Given the description of an element on the screen output the (x, y) to click on. 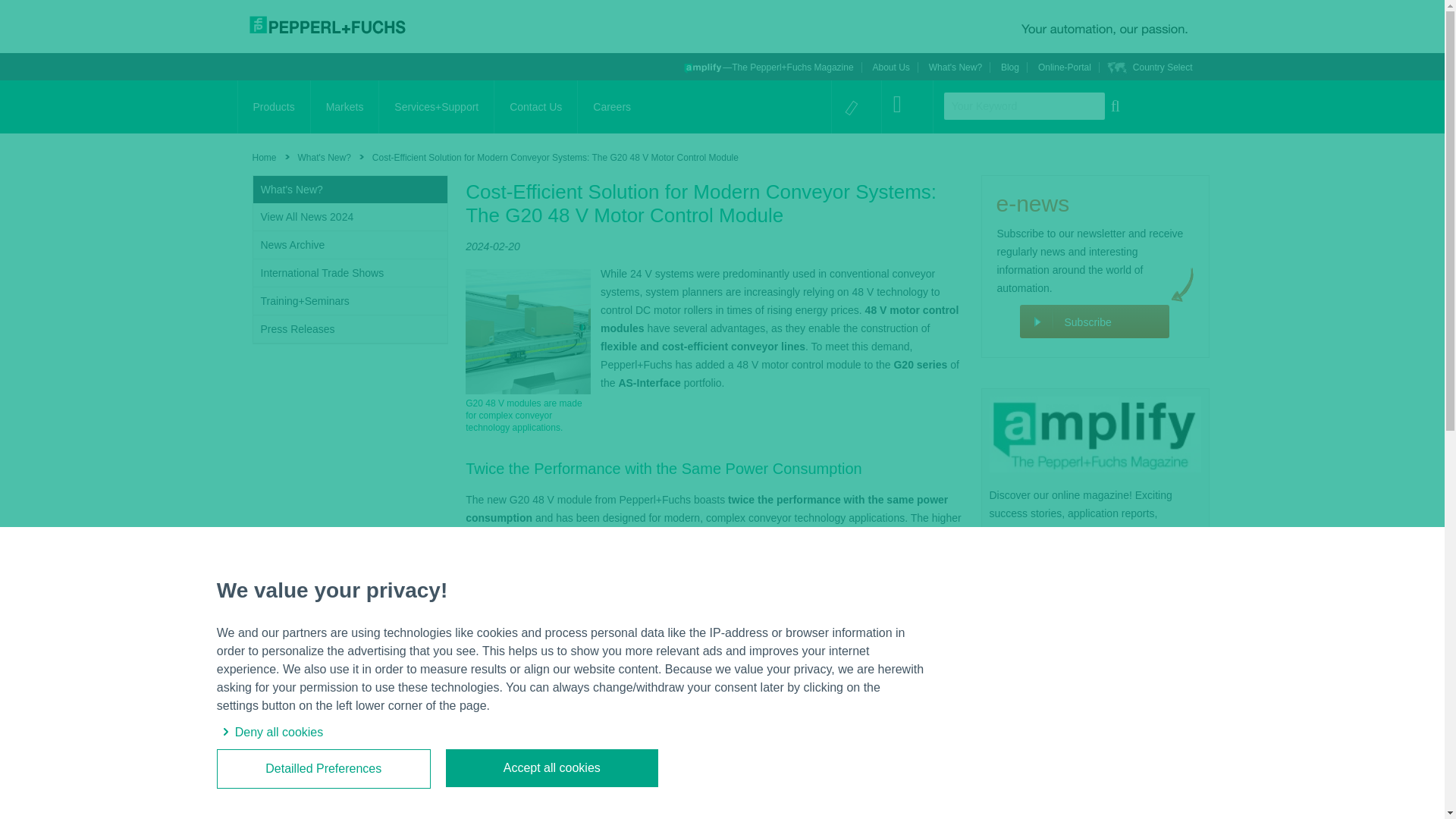
Markets (344, 106)
Watch List (851, 111)
Contact Us (535, 106)
Products (274, 106)
Careers (612, 106)
